Given the description of an element on the screen output the (x, y) to click on. 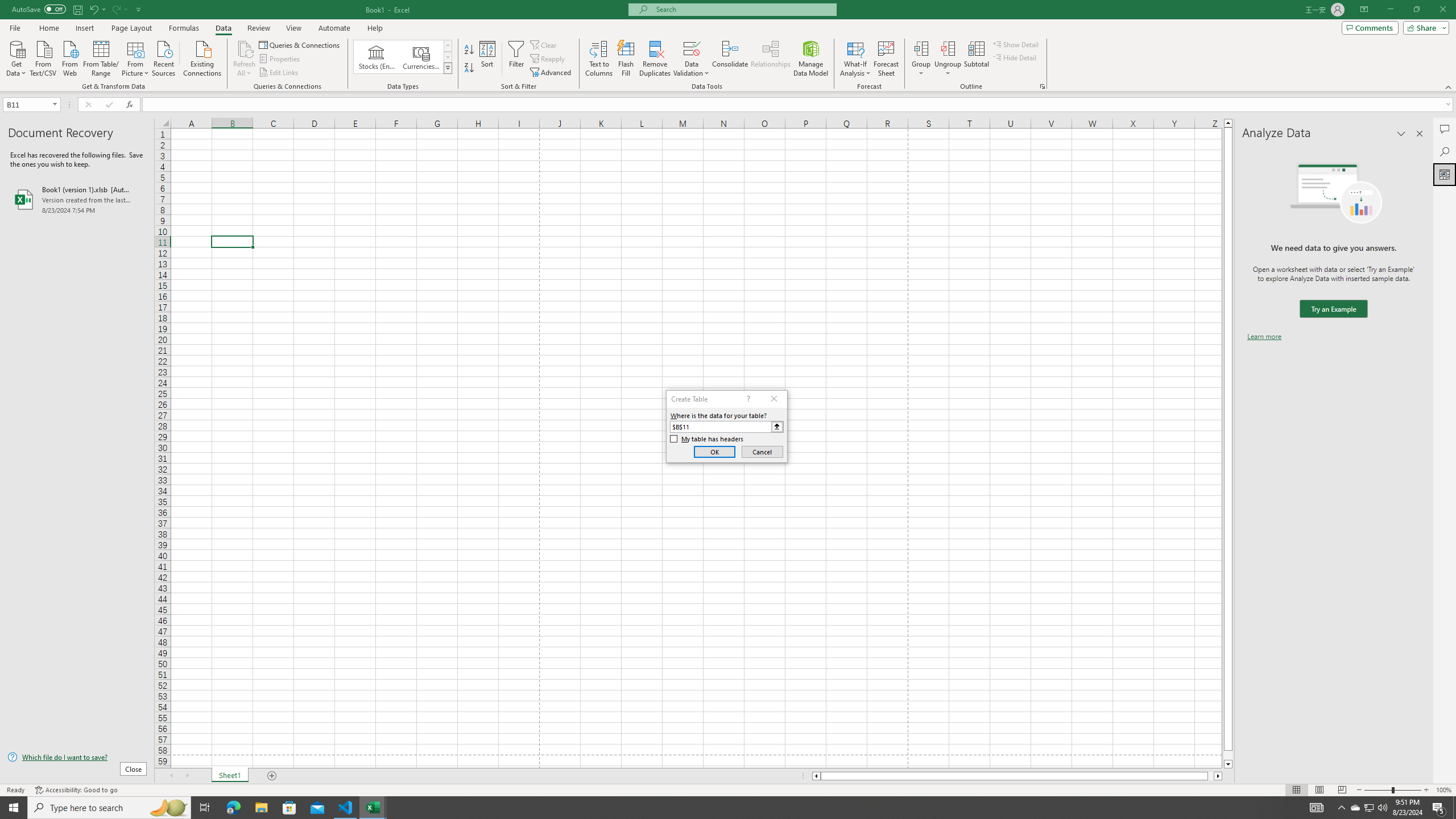
Forecast Sheet (885, 58)
Flash Fill (625, 58)
Class: MsoCommandBar (728, 45)
Stocks (English) (375, 56)
Row Down (448, 56)
Restore Down (1416, 9)
Quick Access Toolbar (77, 9)
From Picture (135, 57)
Page Break Preview (1342, 790)
Share (1423, 27)
Sort A to Z (469, 49)
Recent Sources (163, 57)
Row up (448, 45)
Ribbon Display Options (1364, 9)
Insert (83, 28)
